Given the description of an element on the screen output the (x, y) to click on. 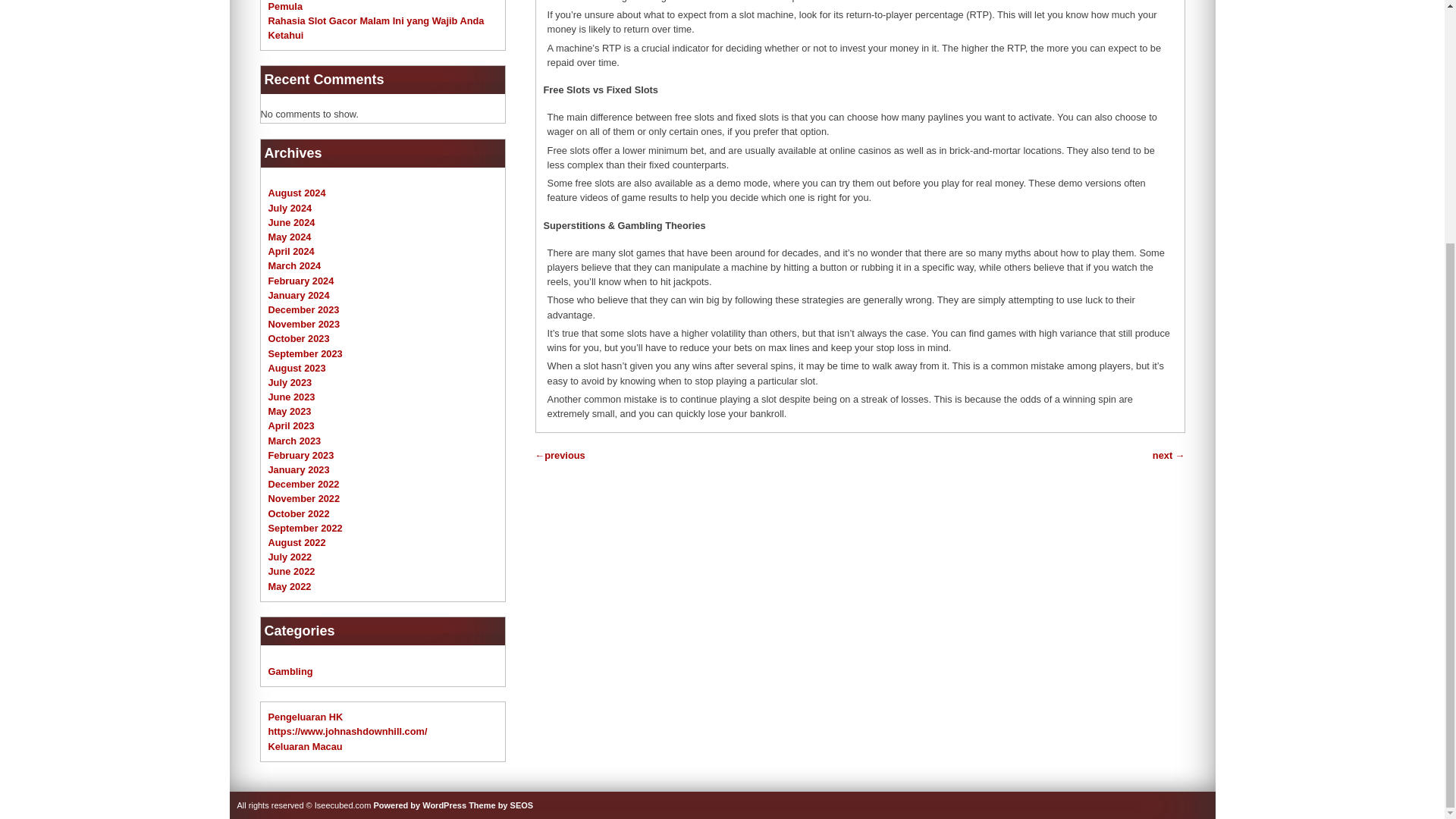
October 2023 (298, 337)
April 2024 (290, 251)
February 2023 (300, 455)
April 2023 (290, 425)
November 2022 (303, 498)
December 2023 (303, 309)
August 2022 (296, 542)
July 2024 (290, 207)
June 2023 (291, 396)
March 2023 (294, 440)
